Given the description of an element on the screen output the (x, y) to click on. 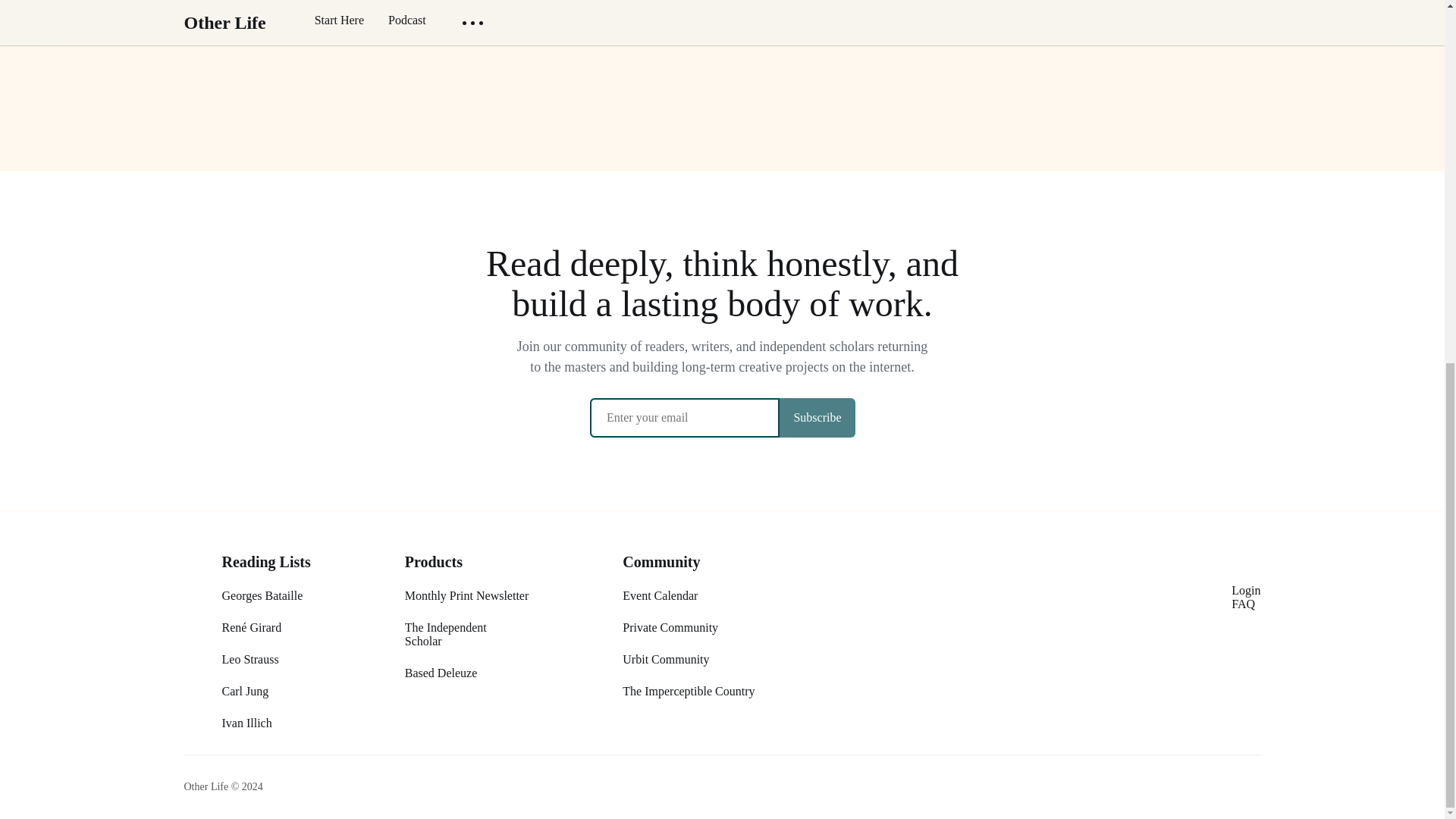
Georges Bataille (261, 594)
Private Community (670, 626)
Monthly Print Newsletter (466, 594)
Carl Jung (244, 690)
Event Calendar (660, 594)
Based Deleuze (440, 672)
Urbit Community (666, 658)
Ivan Illich (245, 722)
Leo Strauss (249, 658)
The Imperceptible Country (688, 690)
